Given the description of an element on the screen output the (x, y) to click on. 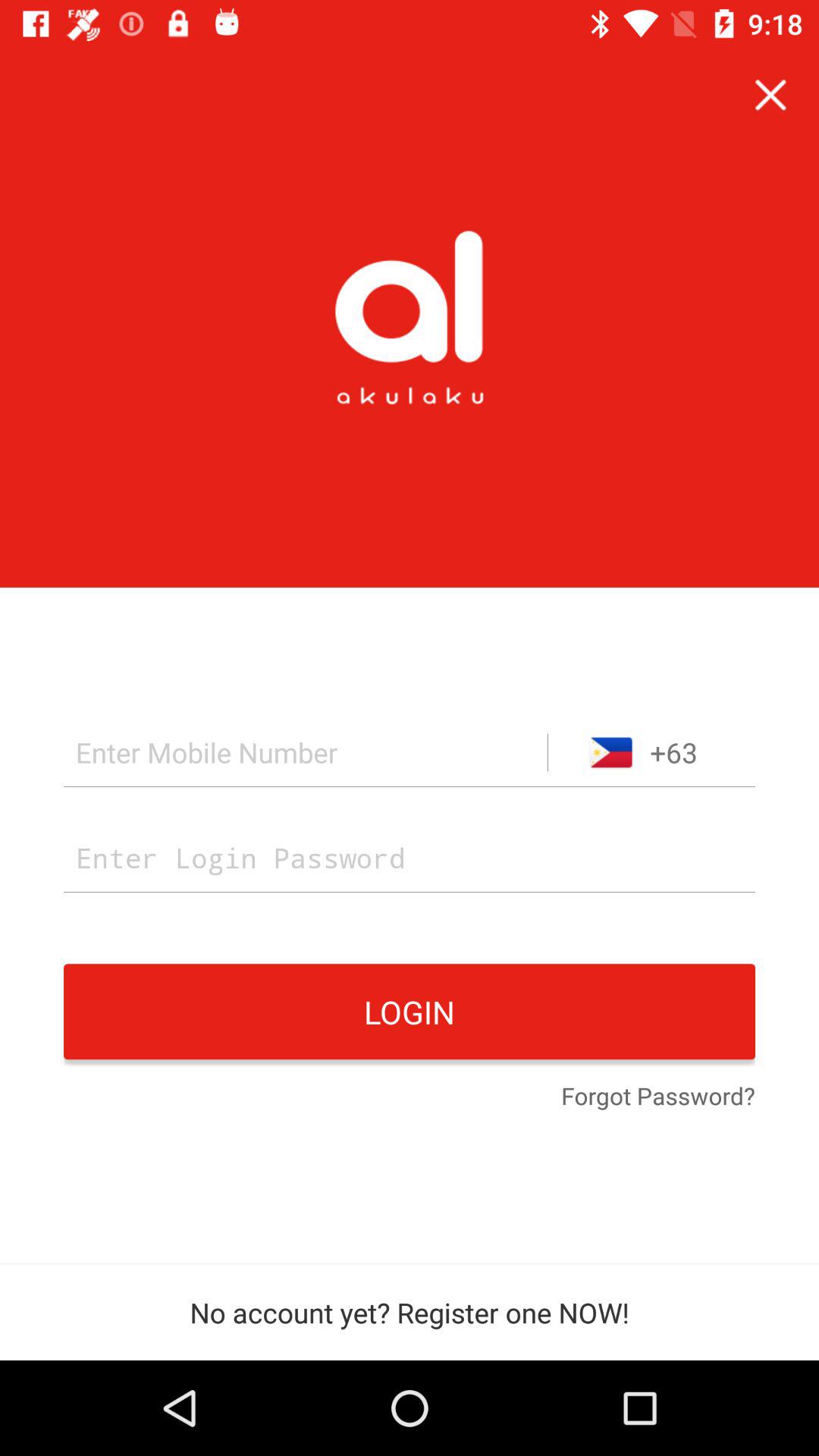
launch the +63 (651, 752)
